Given the description of an element on the screen output the (x, y) to click on. 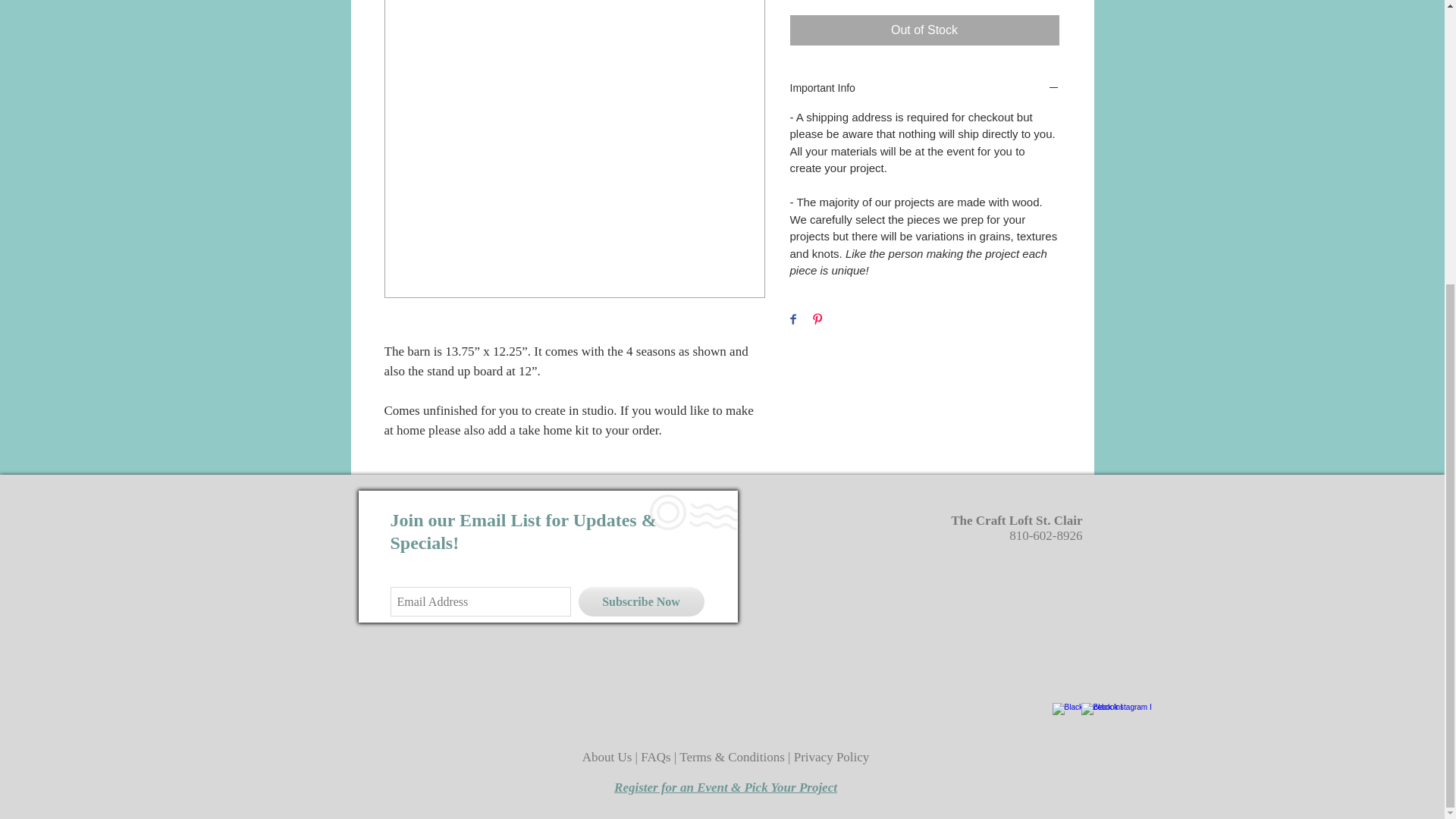
Out of Stock (924, 30)
Subscribe Now (640, 601)
FAQs (657, 757)
810-602-8926 (1045, 535)
Important Info (924, 88)
Privacy Policy (831, 757)
About Us (608, 757)
